Given the description of an element on the screen output the (x, y) to click on. 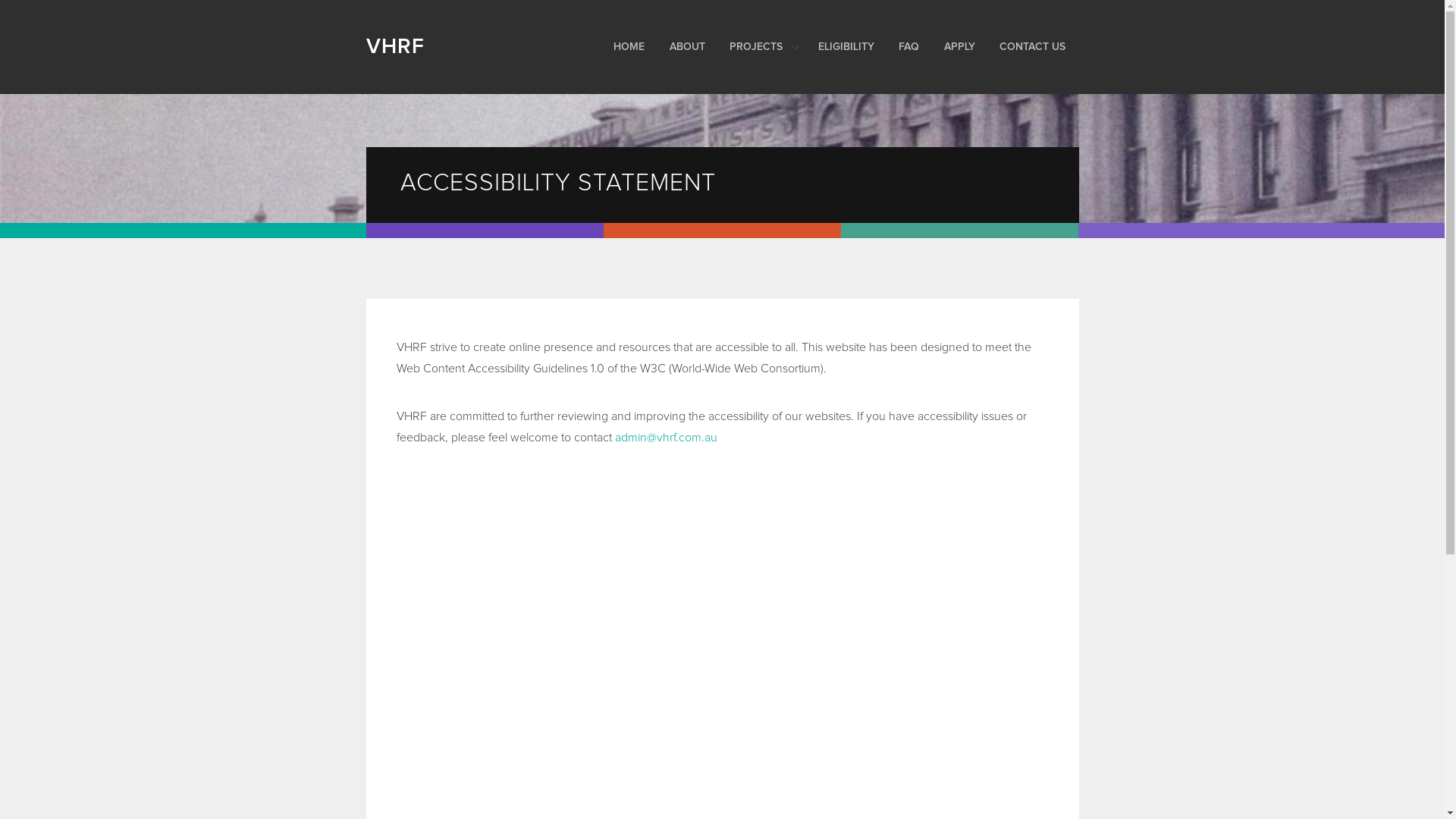
VHRF Element type: text (471, 46)
ABOUT Element type: text (693, 46)
ELIGIBILITY Element type: text (852, 46)
admin@vhrf.com.au Element type: text (665, 437)
HOME Element type: text (635, 46)
CONTACT US Element type: text (1039, 46)
FAQ Element type: text (915, 46)
APPLY Element type: text (965, 46)
